Given the description of an element on the screen output the (x, y) to click on. 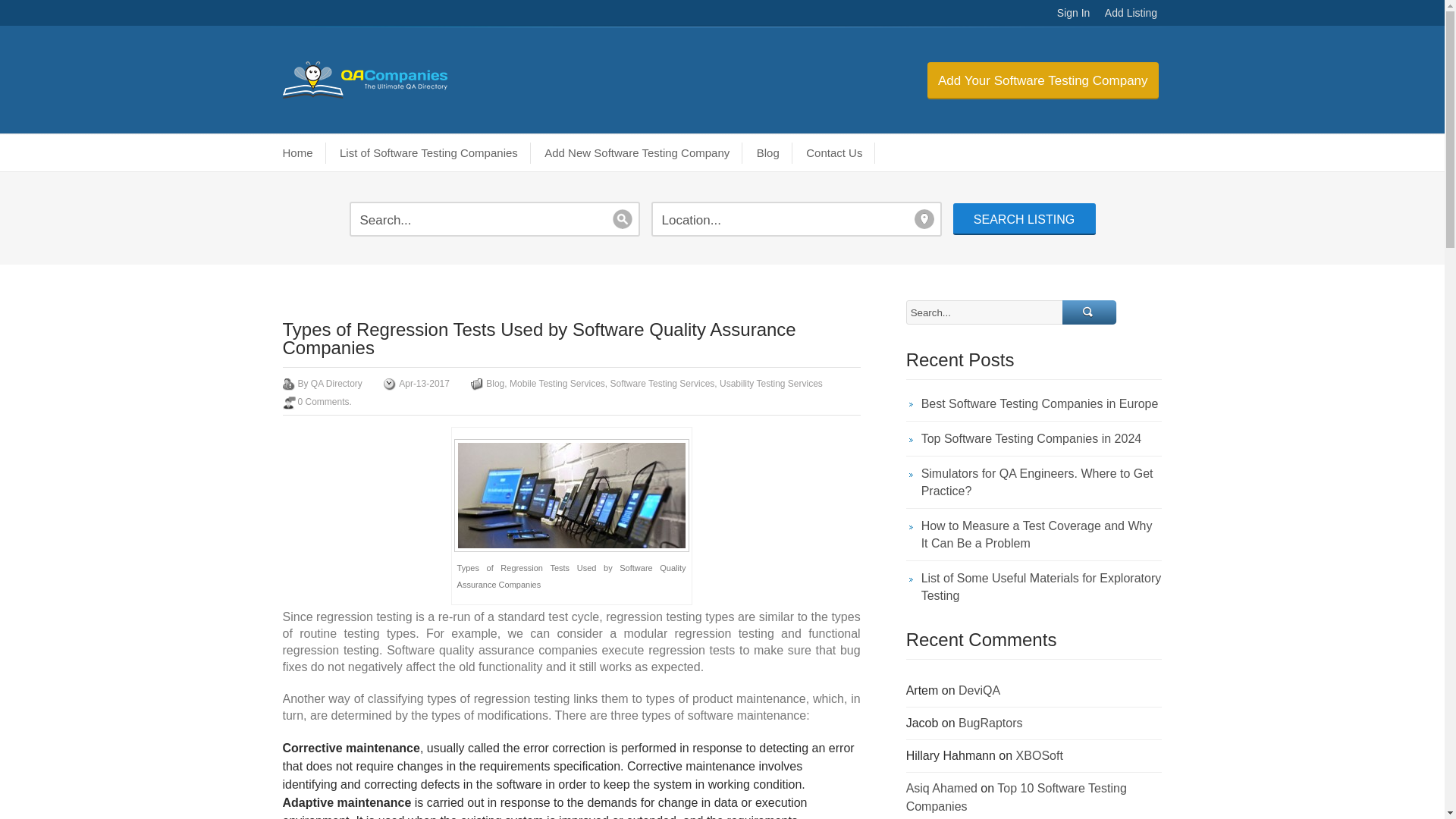
Add Your Software Testing Company (1042, 80)
Search... (1089, 312)
Mobile Testing Services (557, 383)
Contact Us (836, 152)
Blog (494, 383)
List of Some Useful Materials for Exploratory Testing (1033, 582)
Usability Testing Services (770, 383)
Sign In (1073, 12)
DeviQA (979, 689)
Add Listing (1131, 12)
Search Listing (1023, 219)
How to Measure a Test Coverage and Why It Can Be a Problem (1033, 534)
Asiq Ahamed (940, 788)
Blog (769, 152)
Posts by QA Directory (336, 383)
